Given the description of an element on the screen output the (x, y) to click on. 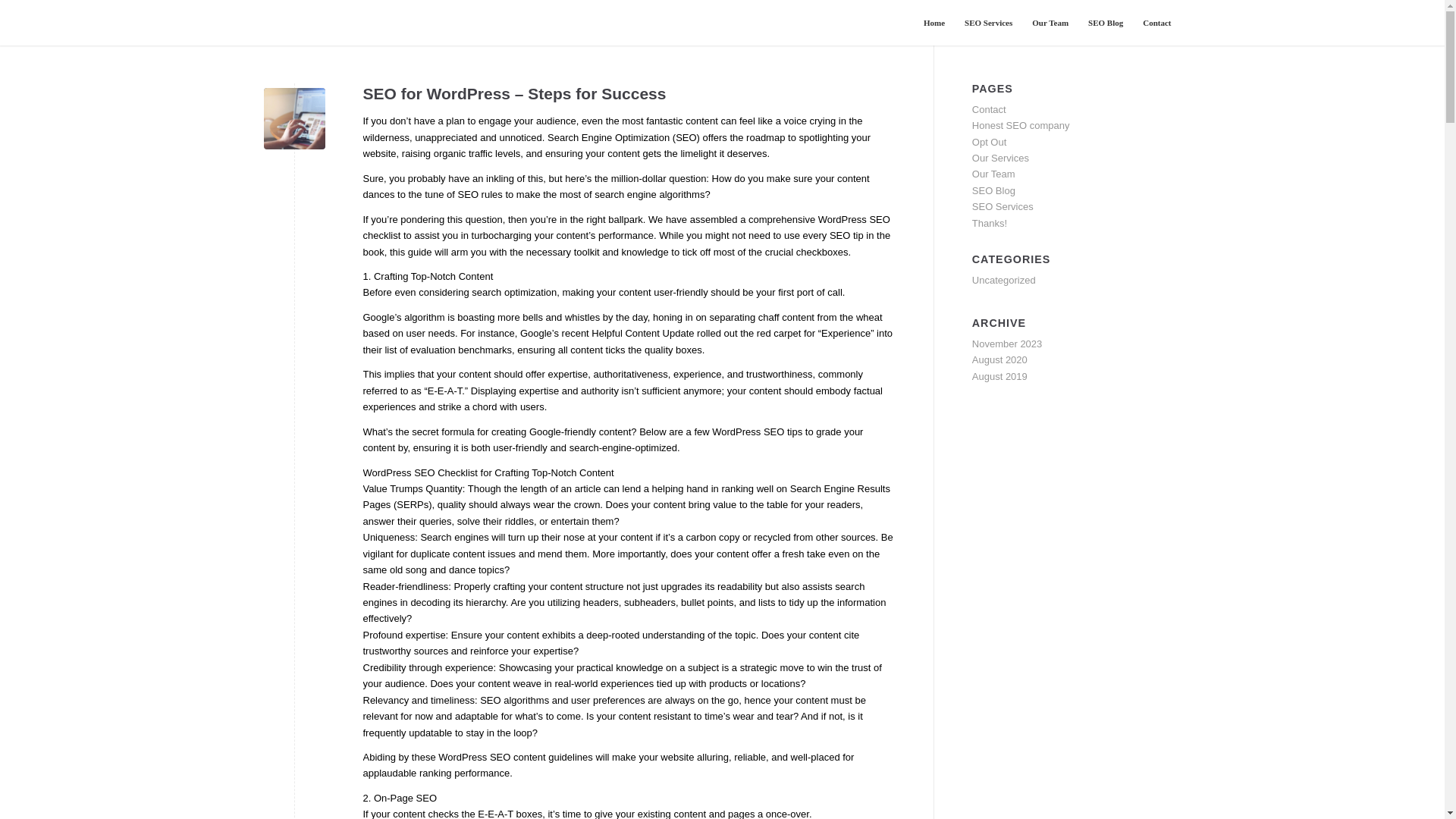
November 2023 (1007, 343)
Uncategorized (1003, 279)
Our Services (1000, 157)
wordpress seo tips (293, 118)
Opt Out (989, 142)
SEO Services (988, 22)
Contact (1156, 22)
SEO Services (1002, 206)
Our Team (1050, 22)
August 2020 (999, 359)
